Given the description of an element on the screen output the (x, y) to click on. 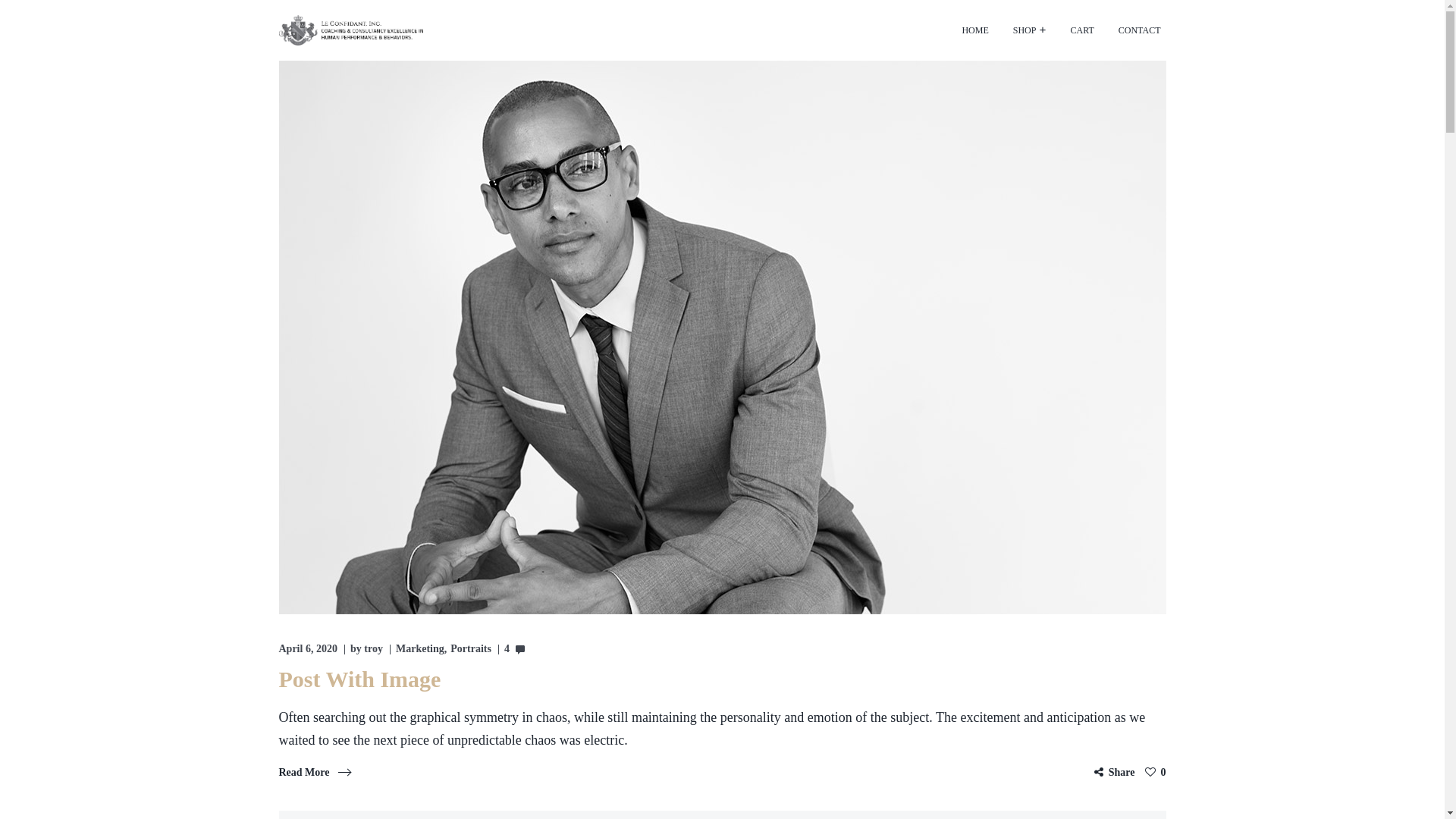
HOME Element type: text (974, 30)
4 Element type: text (514, 648)
Portraits Element type: text (470, 648)
SHOP Element type: text (1029, 30)
Marketing Element type: text (422, 648)
Post With Image Element type: text (360, 678)
Share Element type: text (1111, 772)
troy Element type: text (373, 648)
CONTACT Element type: text (1139, 30)
CART Element type: text (1081, 30)
Read More Element type: text (316, 772)
